Given the description of an element on the screen output the (x, y) to click on. 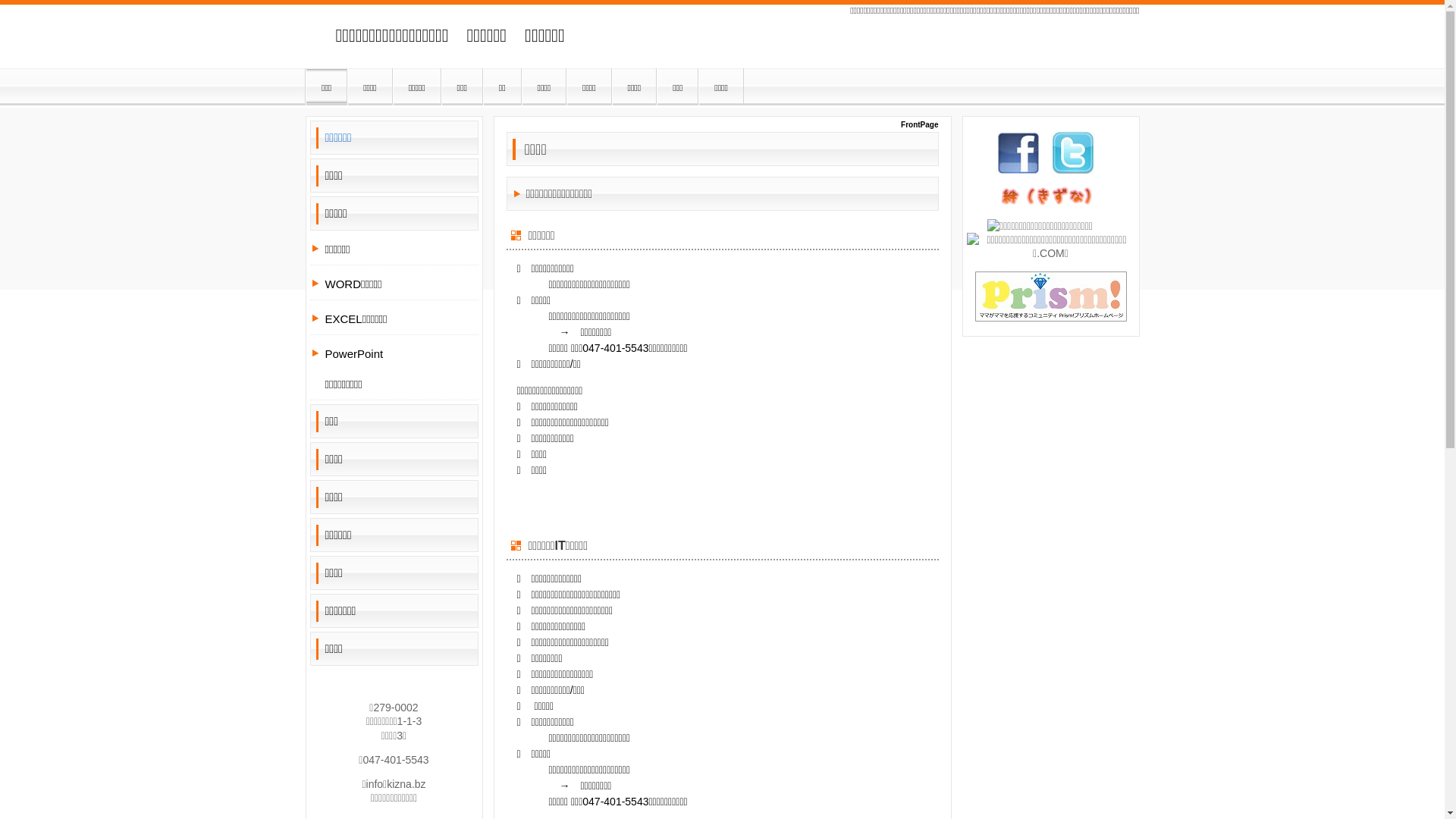
tw Element type: hover (1073, 153)
kizna Element type: hover (1050, 196)
prism banner Element type: hover (1050, 296)
fb Element type: hover (1018, 153)
